Given the description of an element on the screen output the (x, y) to click on. 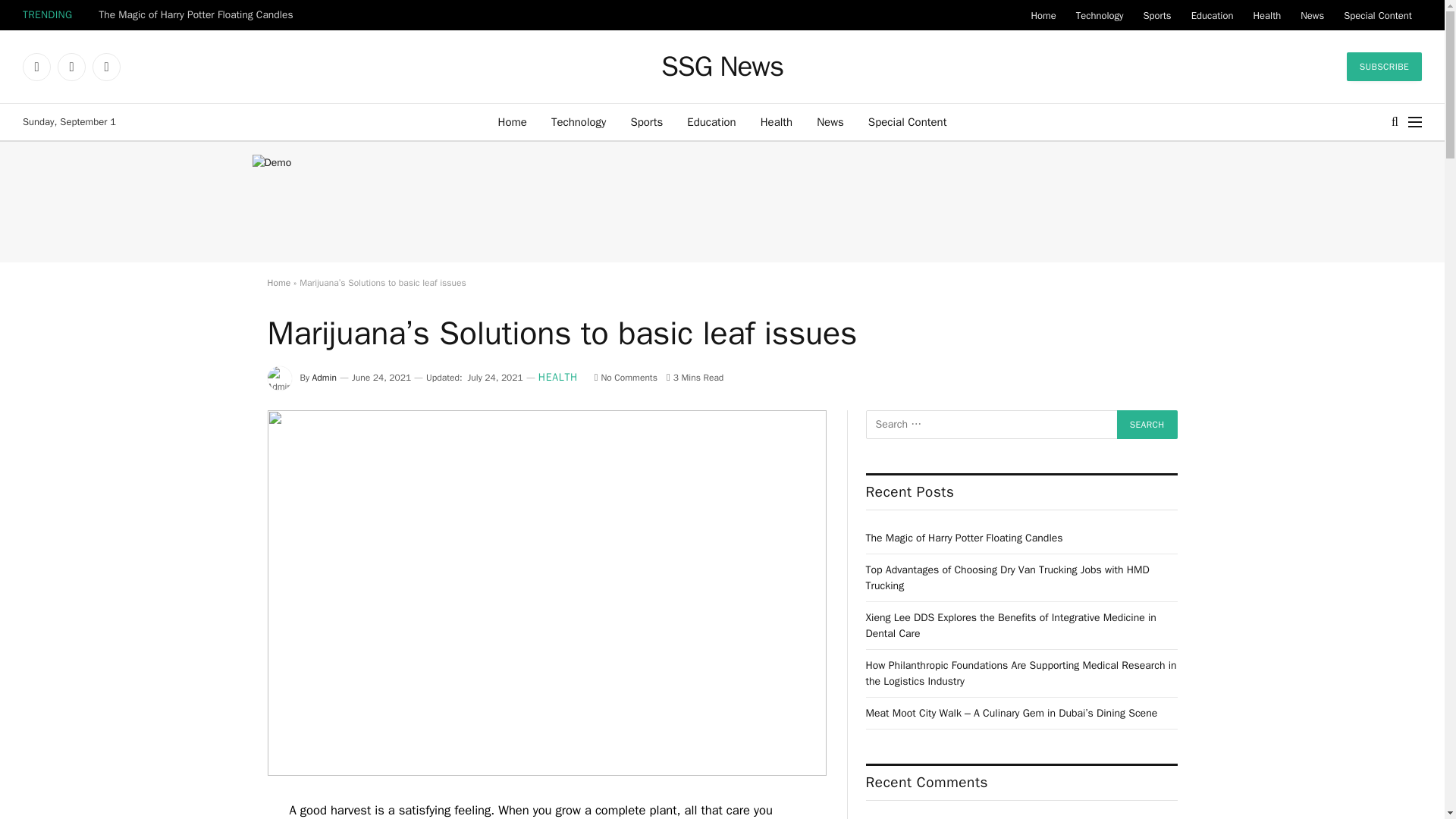
Sports (646, 122)
News (830, 122)
Search (1146, 424)
Education (711, 122)
ssgnews.com (722, 66)
Instagram (106, 67)
Education (1211, 15)
Technology (578, 122)
Health (776, 122)
Posts by Admin (324, 377)
